Given the description of an element on the screen output the (x, y) to click on. 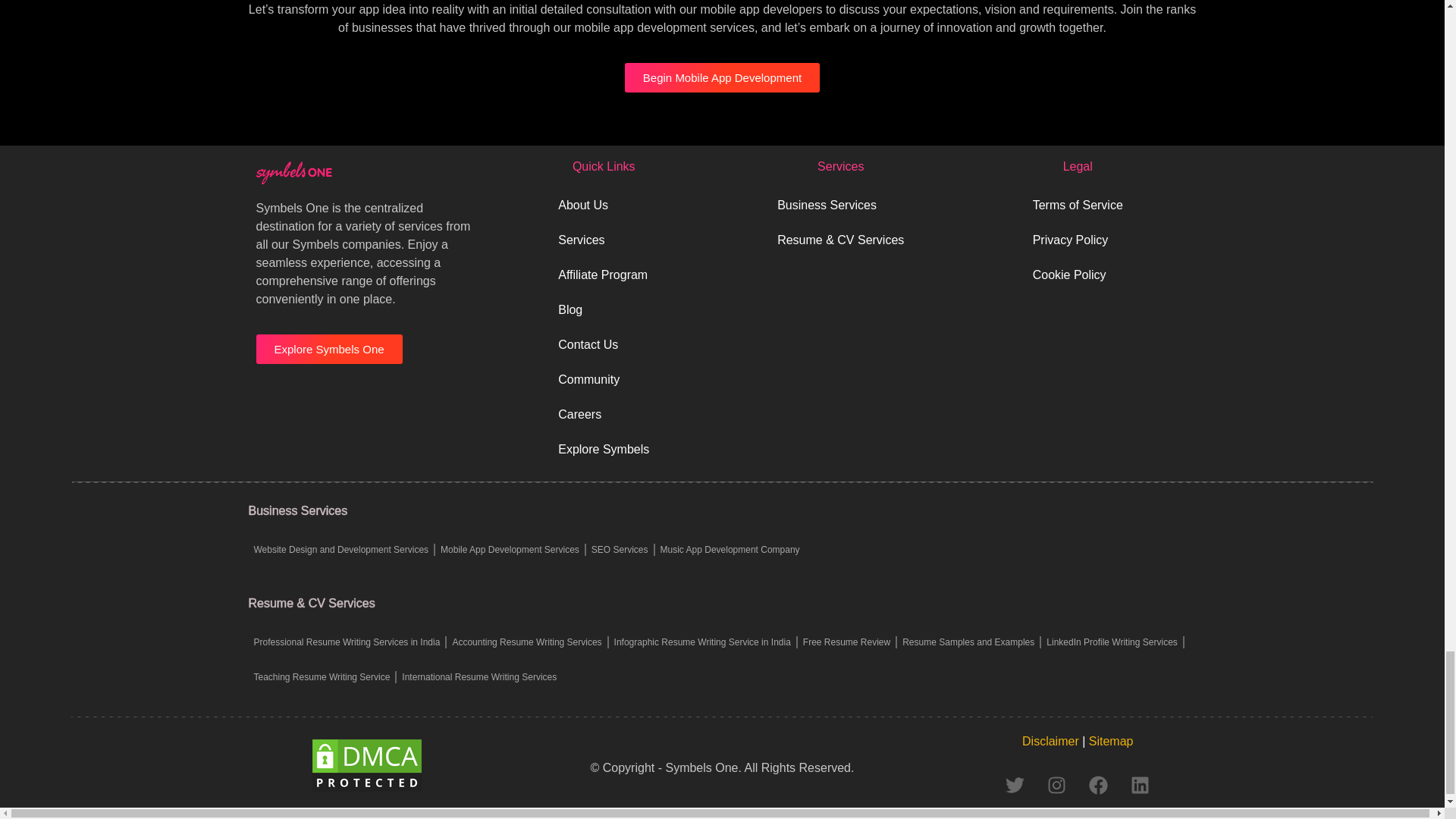
DMCA.com Protected (366, 789)
